Given the description of an element on the screen output the (x, y) to click on. 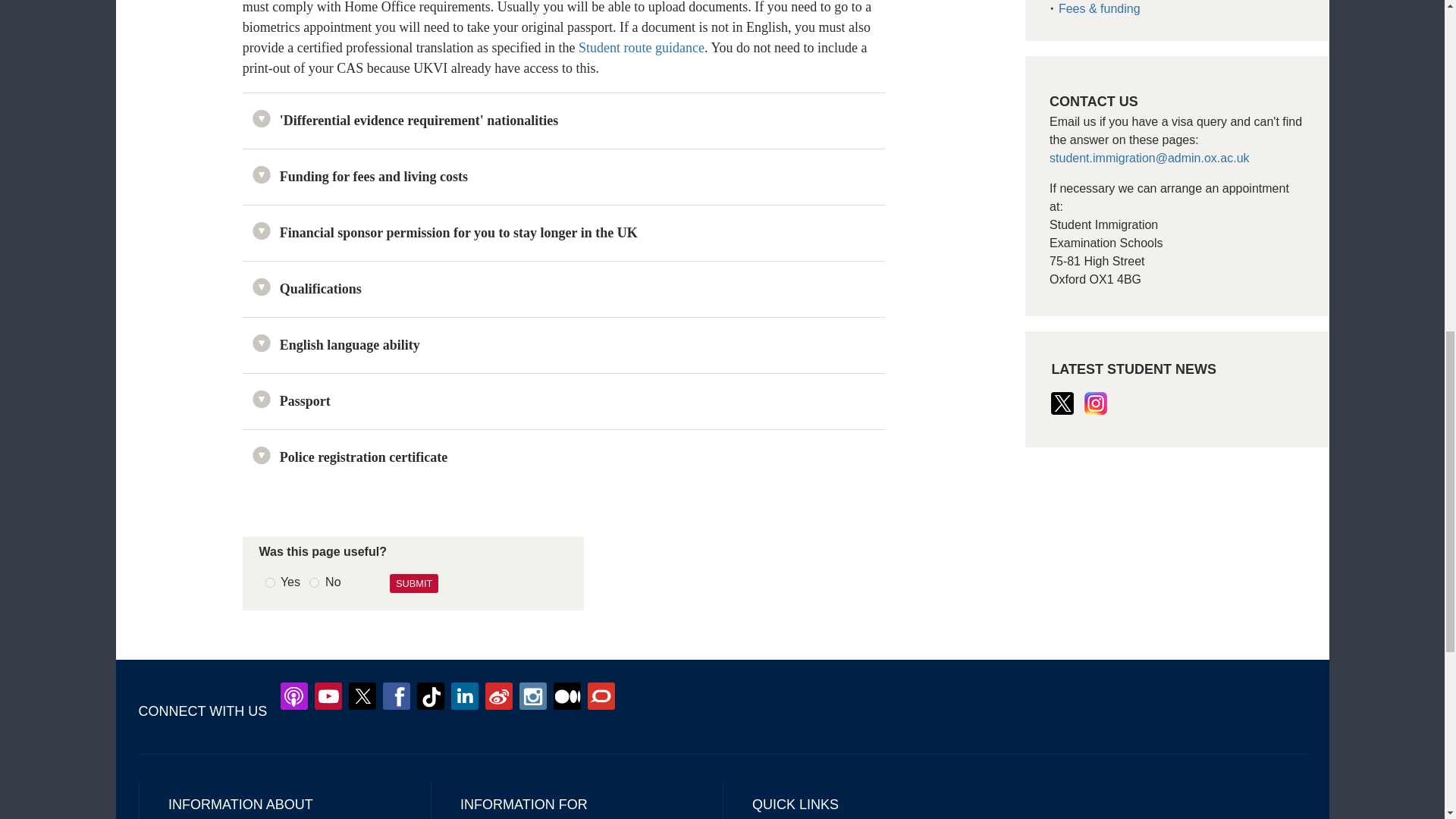
2 (313, 583)
Student Information (1149, 157)
Submit (414, 583)
1 (269, 583)
